Given the description of an element on the screen output the (x, y) to click on. 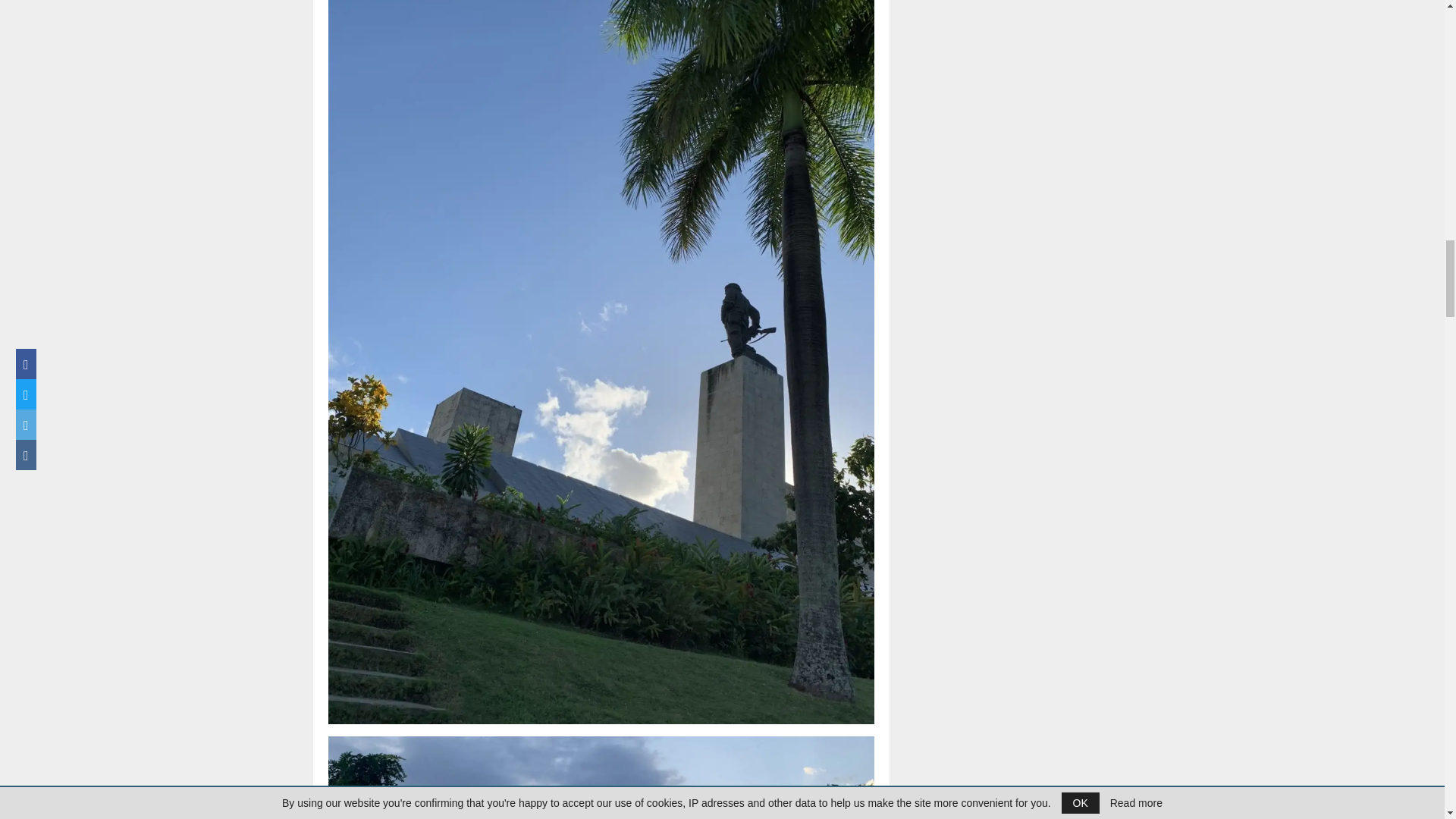
Cuba. One of a kind. Chapter II. 5 (600, 777)
